Given the description of an element on the screen output the (x, y) to click on. 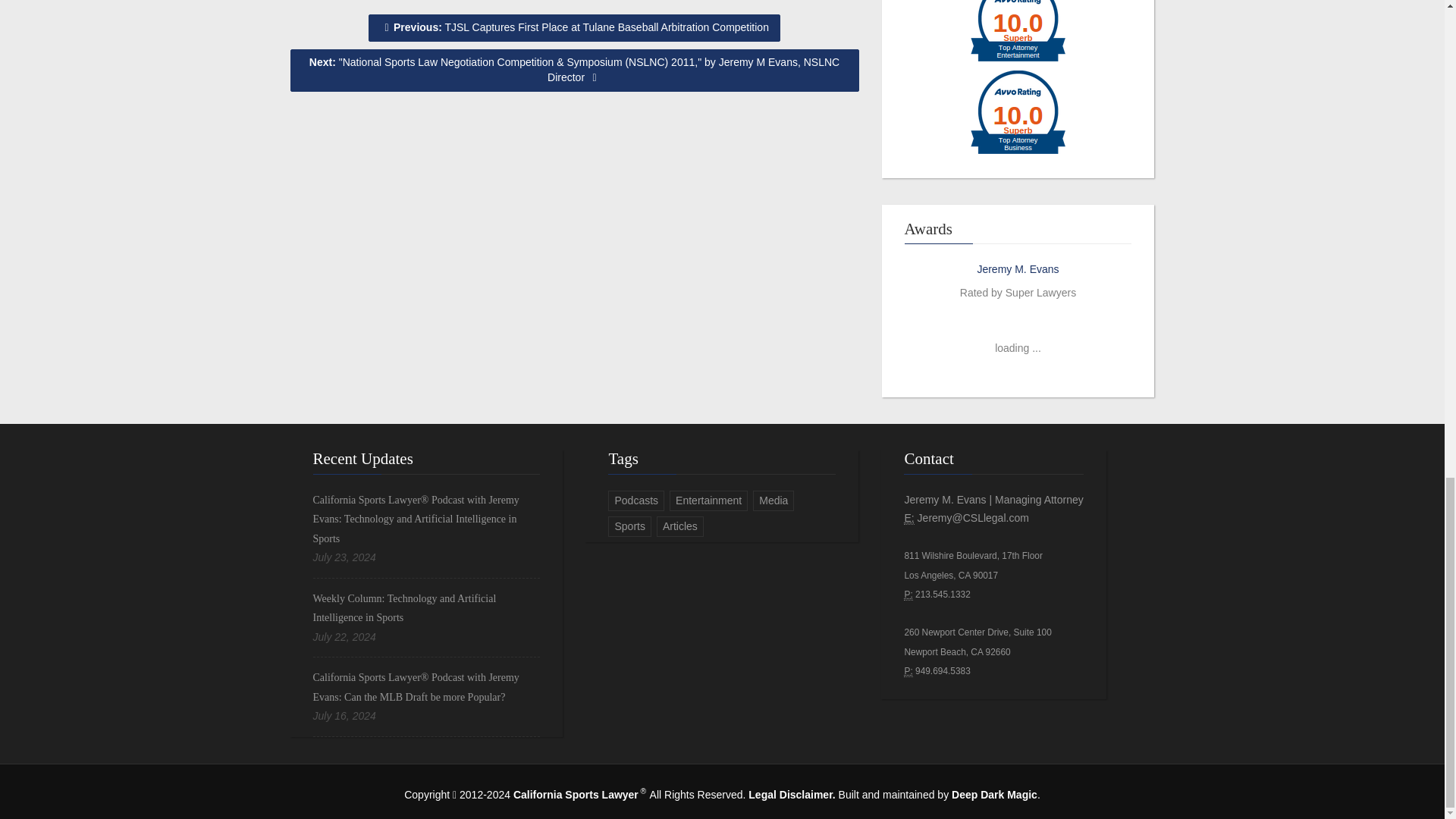
Media (772, 500)
Sports (629, 526)
Entertainment (708, 500)
Podcasts (635, 500)
Jeremy M. Evans (1017, 268)
